Given the description of an element on the screen output the (x, y) to click on. 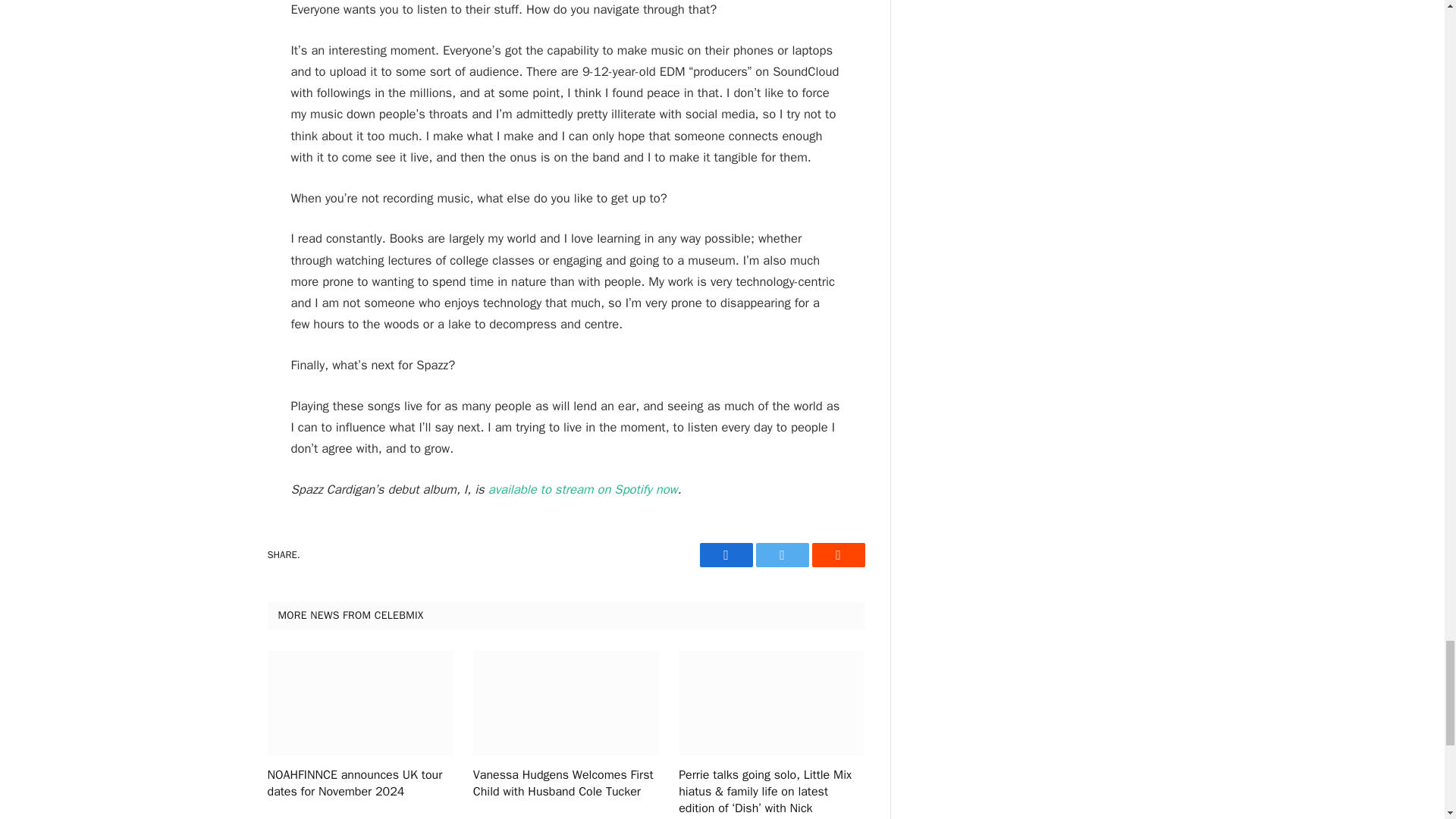
Facebook (725, 554)
Reddit (837, 554)
NOAHFINNCE announces UK tour dates for November 2024 (359, 783)
available to stream on Spotify now (582, 489)
Twitter (781, 554)
